Given the description of an element on the screen output the (x, y) to click on. 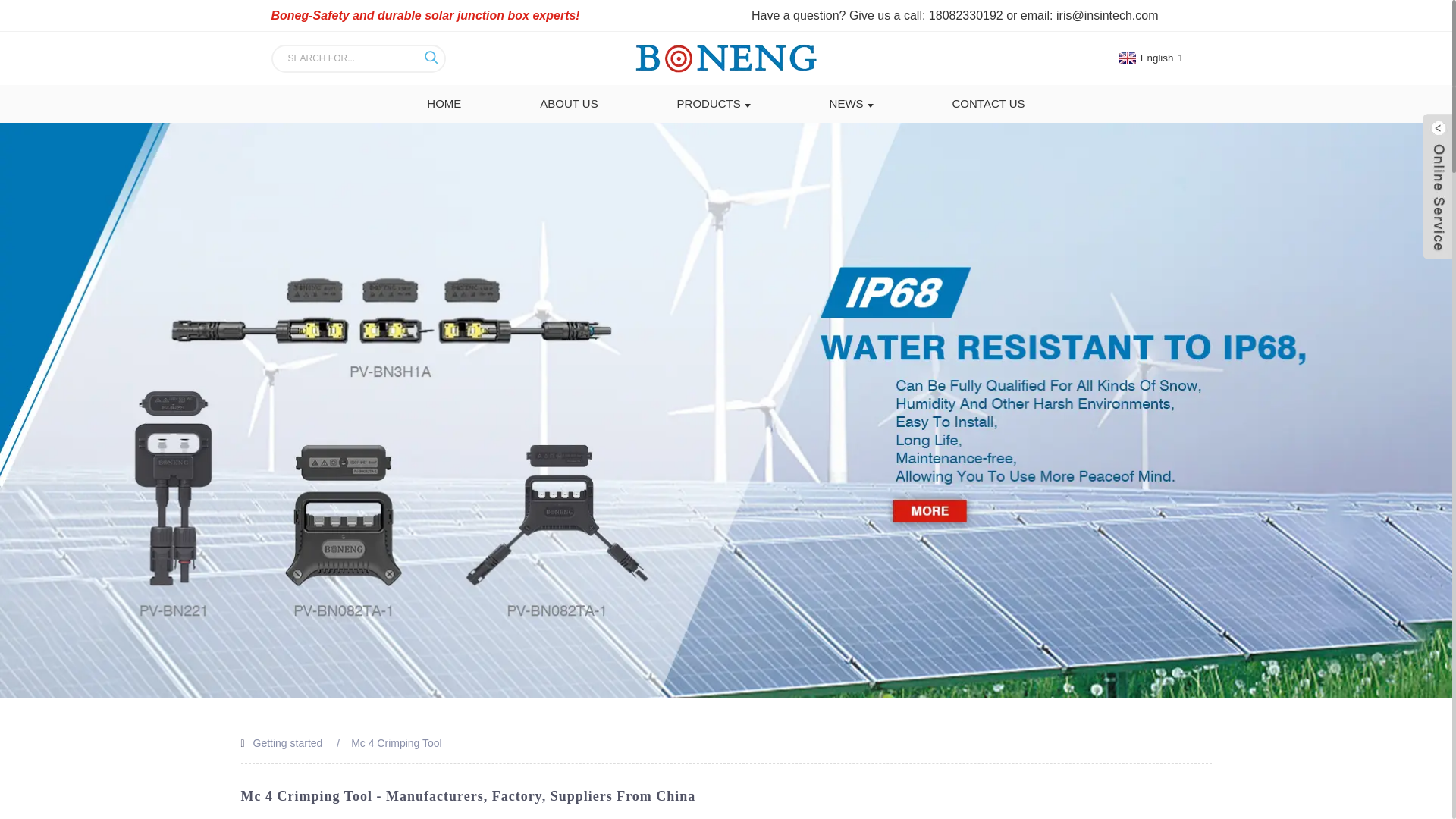
ABOUT US (568, 103)
Getting started (288, 743)
PRODUCTS (714, 103)
CONTACT US (988, 103)
NEWS (851, 103)
18082330192 (965, 15)
Mc 4 Crimping Tool (396, 743)
English (1147, 57)
HOME (443, 103)
